Given the description of an element on the screen output the (x, y) to click on. 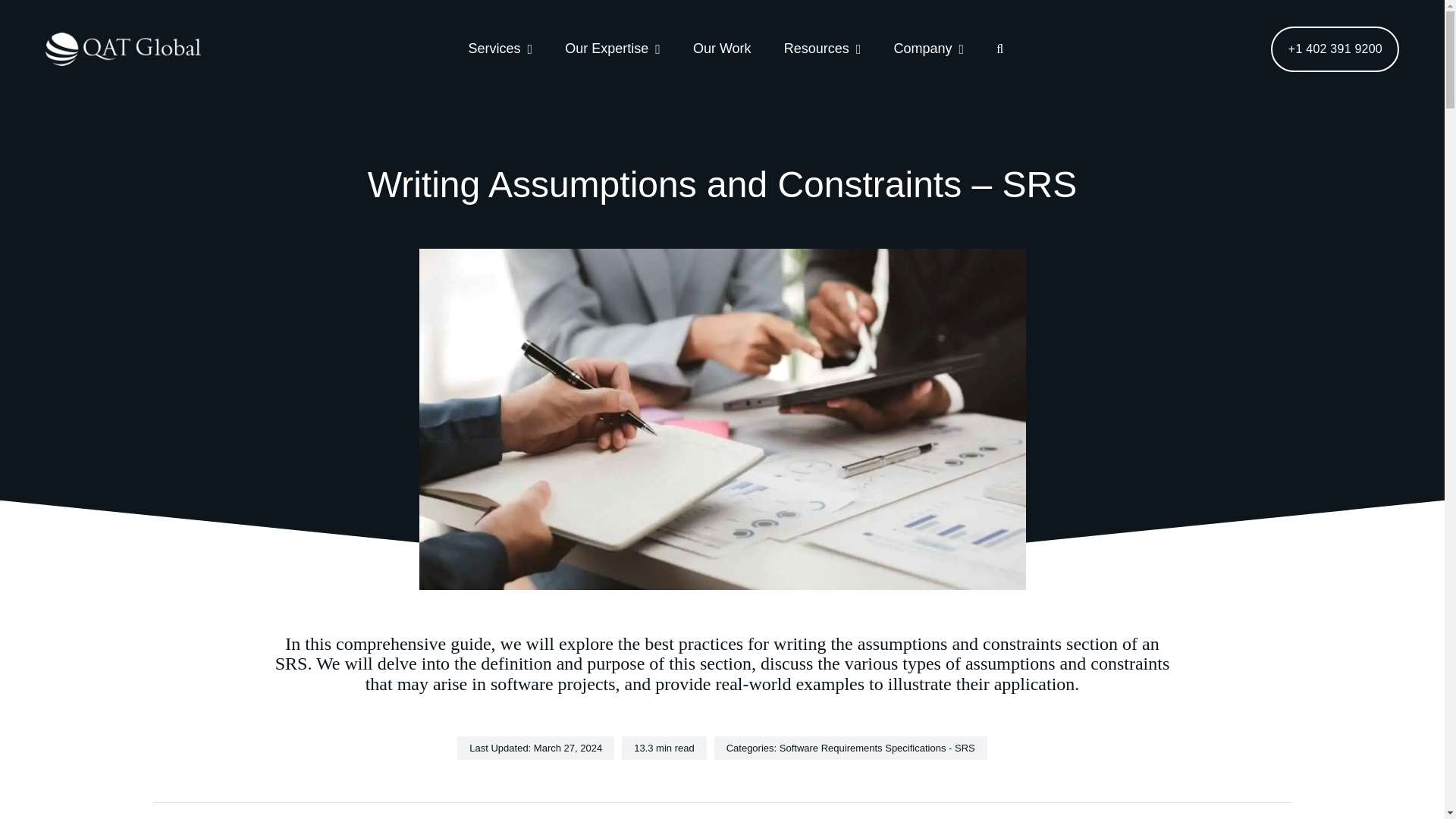
Services (499, 48)
